Given the description of an element on the screen output the (x, y) to click on. 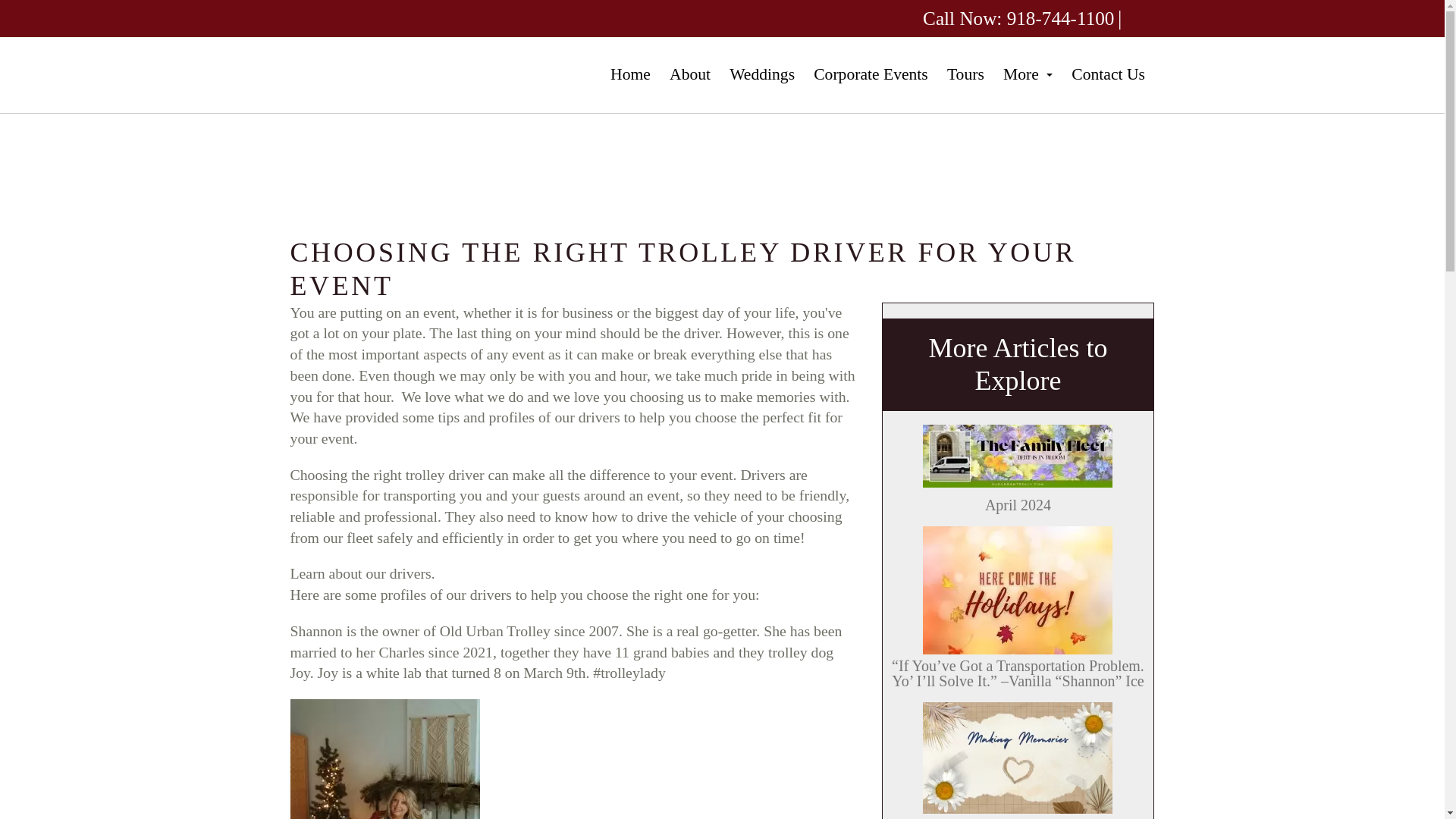
Call Now: 918-744-1100 (1018, 18)
Weddings (762, 75)
Tours (964, 75)
Corporate Events (871, 75)
Weddings (762, 75)
Contact Us (1108, 75)
Making Memories (1018, 760)
Tours (964, 75)
Home (629, 75)
April 2024 (1018, 468)
